Given the description of an element on the screen output the (x, y) to click on. 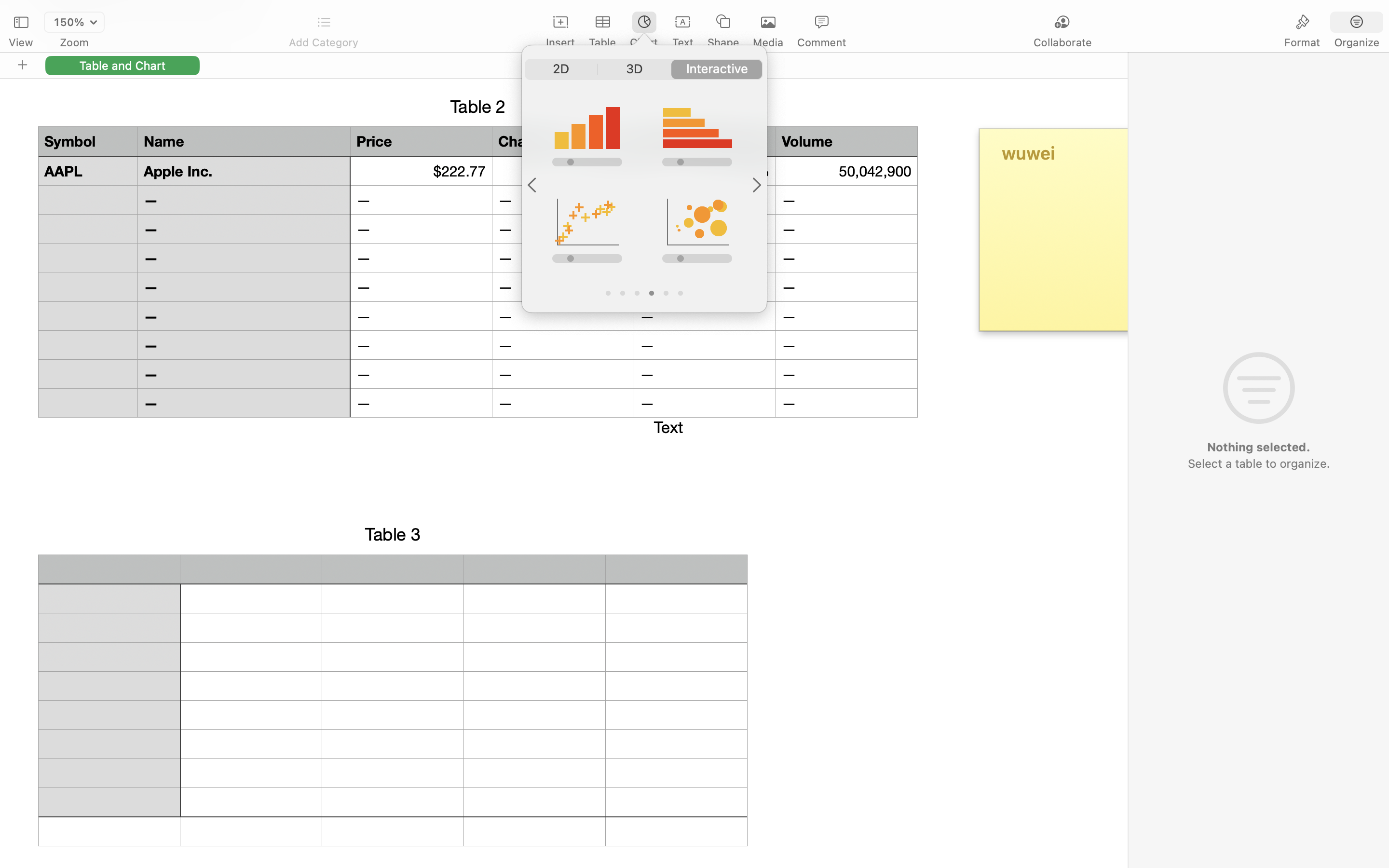
<AXUIElement 0x2896b1d50> {pid=1420} Element type: AXRadioGroup (643, 69)
Media Element type: AXStaticText (767, 42)
Add Category Element type: AXStaticText (322, 42)
Zoom Element type: AXStaticText (73, 42)
